Given the description of an element on the screen output the (x, y) to click on. 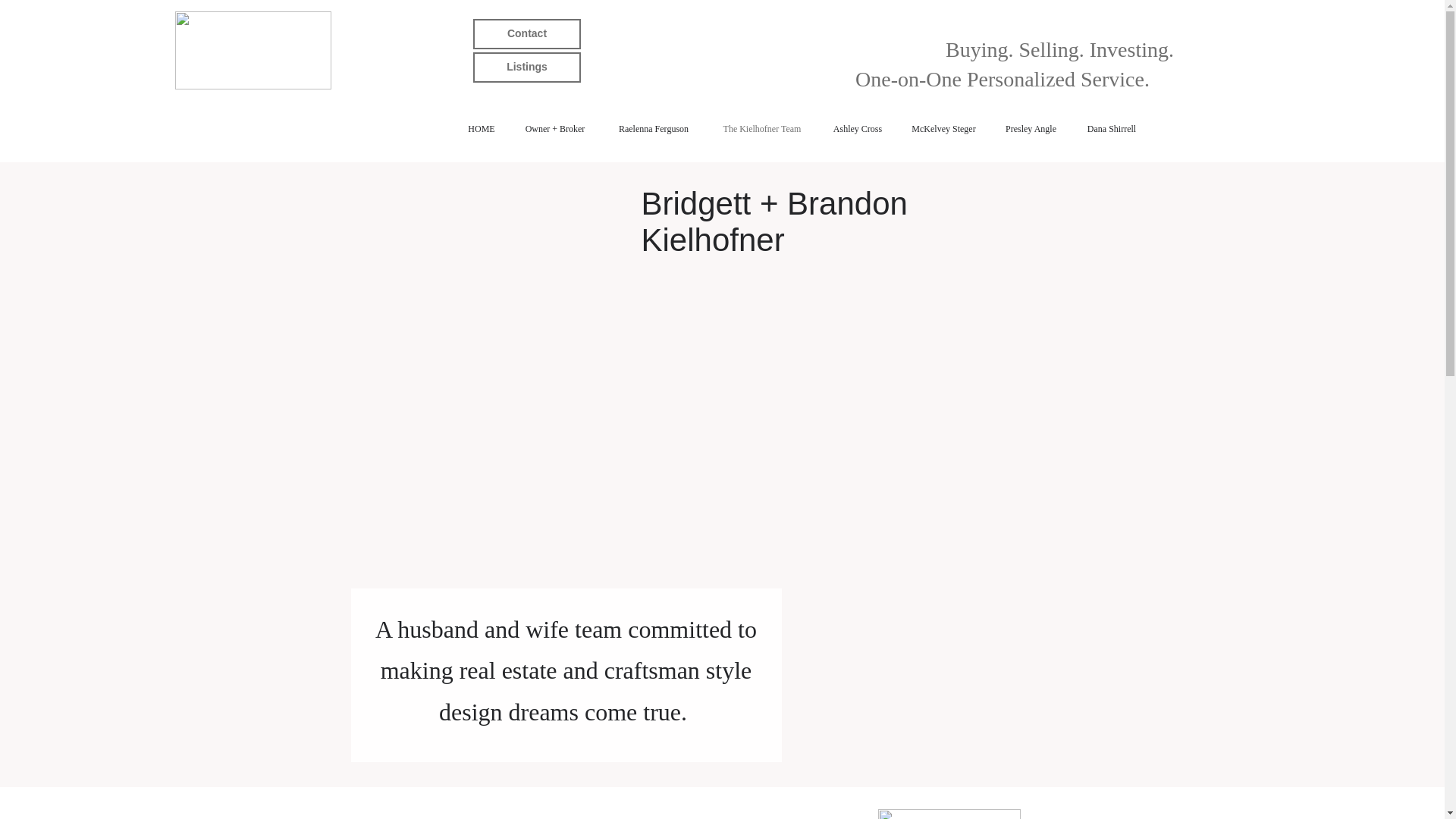
Contact (526, 33)
Dana Shirrell (1111, 128)
Ashley Cross (857, 128)
McKelvey Steger (943, 128)
Raelenna Ferguson (653, 128)
Presley Angle (1030, 128)
HOME (481, 128)
Listings (526, 67)
The Kielhofner Team (762, 128)
